Given the description of an element on the screen output the (x, y) to click on. 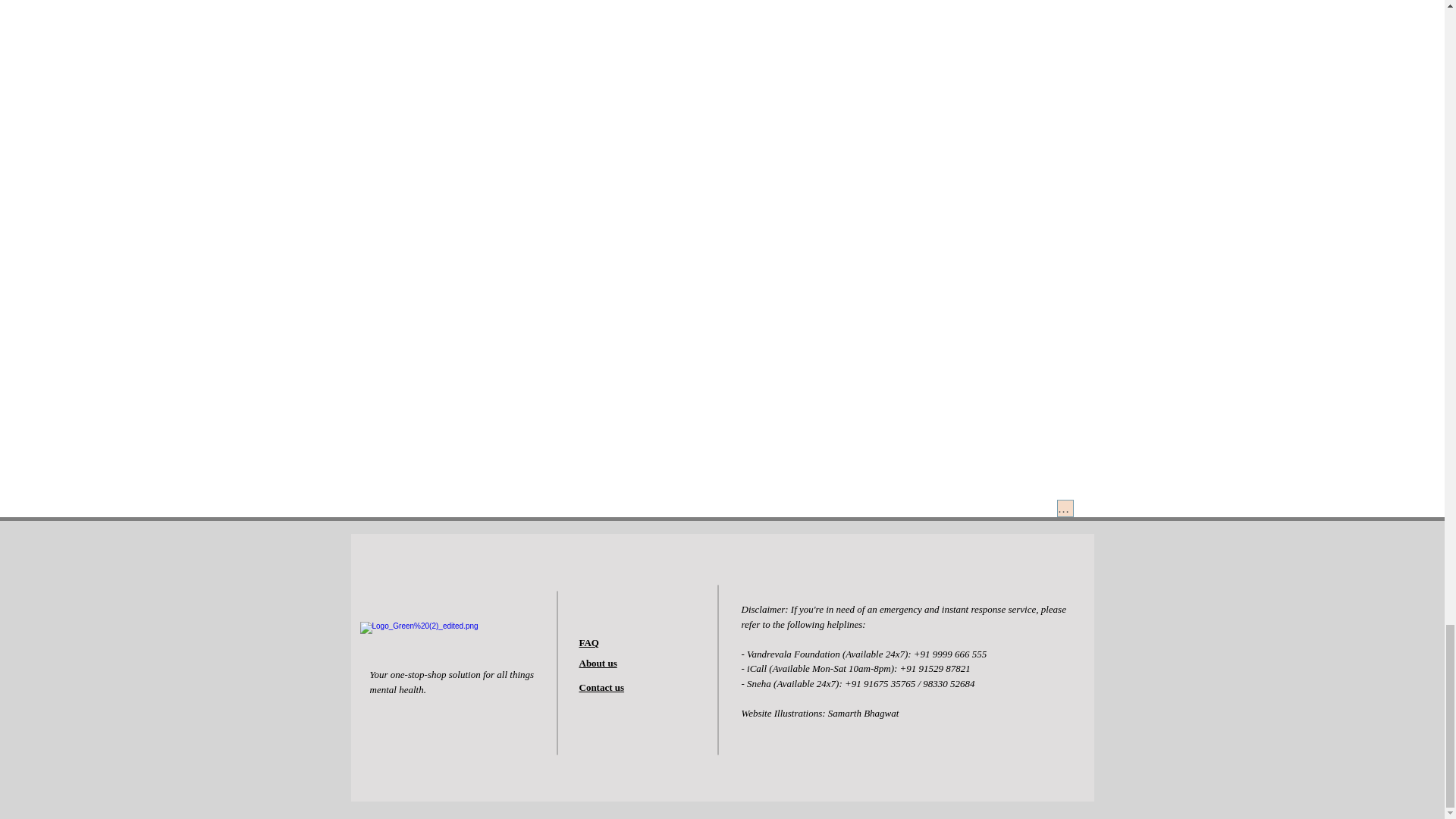
About us (598, 663)
FAQ (588, 642)
Contact us (601, 686)
Shop (1065, 507)
